Given the description of an element on the screen output the (x, y) to click on. 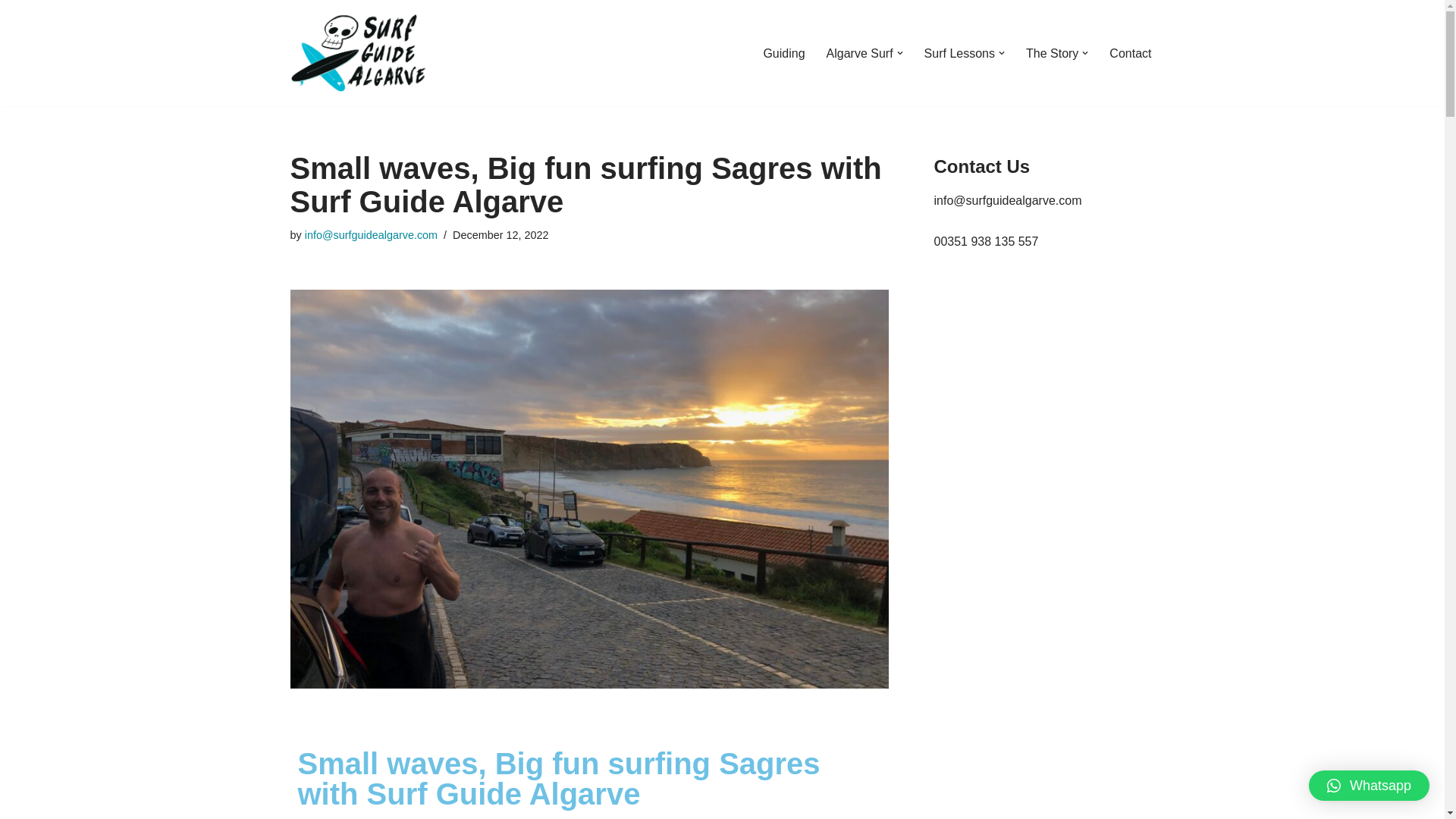
Surf Lessons (959, 53)
The Story (1052, 53)
Skip to content (11, 31)
Guiding (783, 53)
Contact (1130, 53)
Algarve Surf (860, 53)
